Given the description of an element on the screen output the (x, y) to click on. 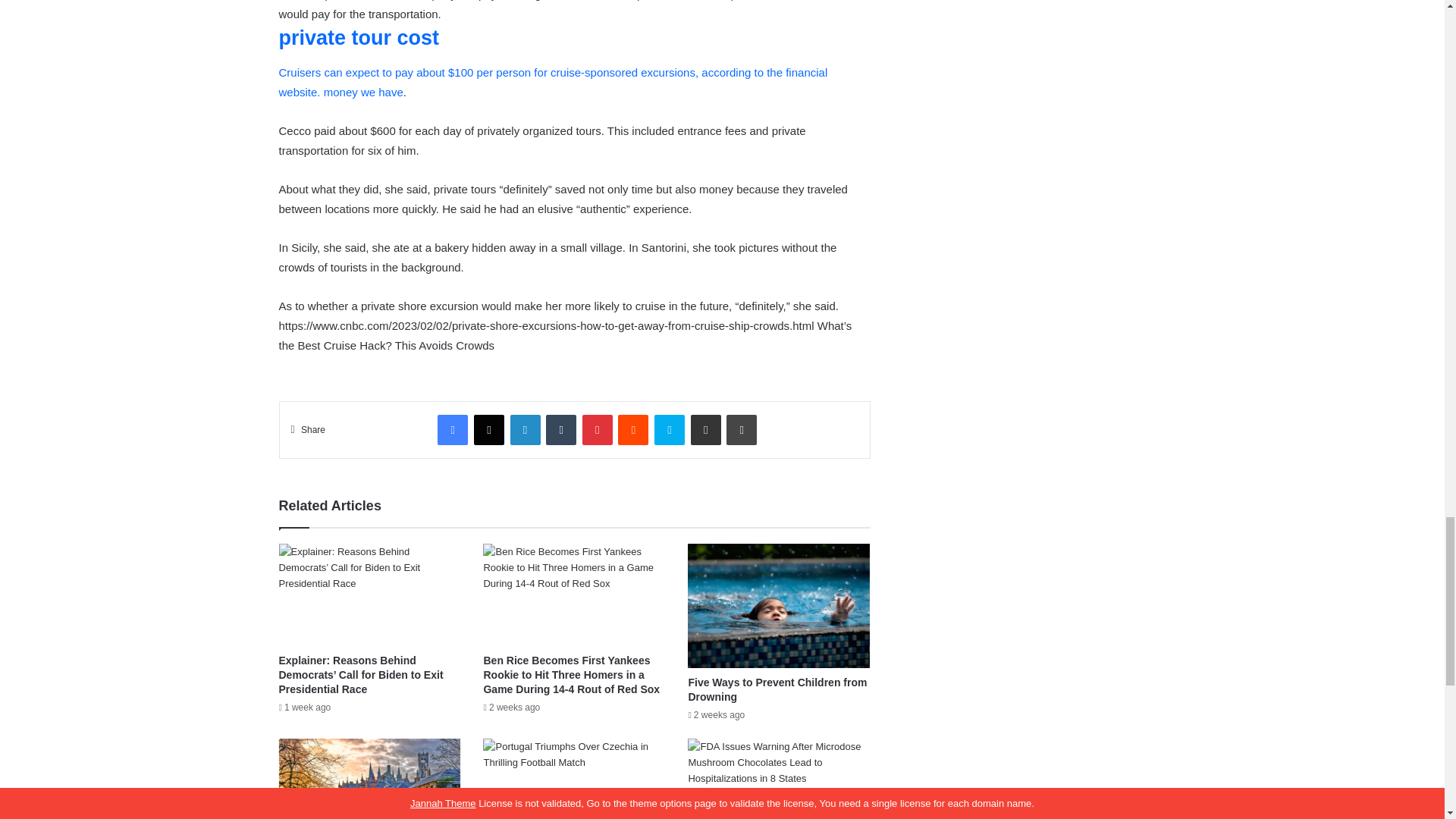
private tour cost (359, 37)
Facebook (452, 429)
